Given the description of an element on the screen output the (x, y) to click on. 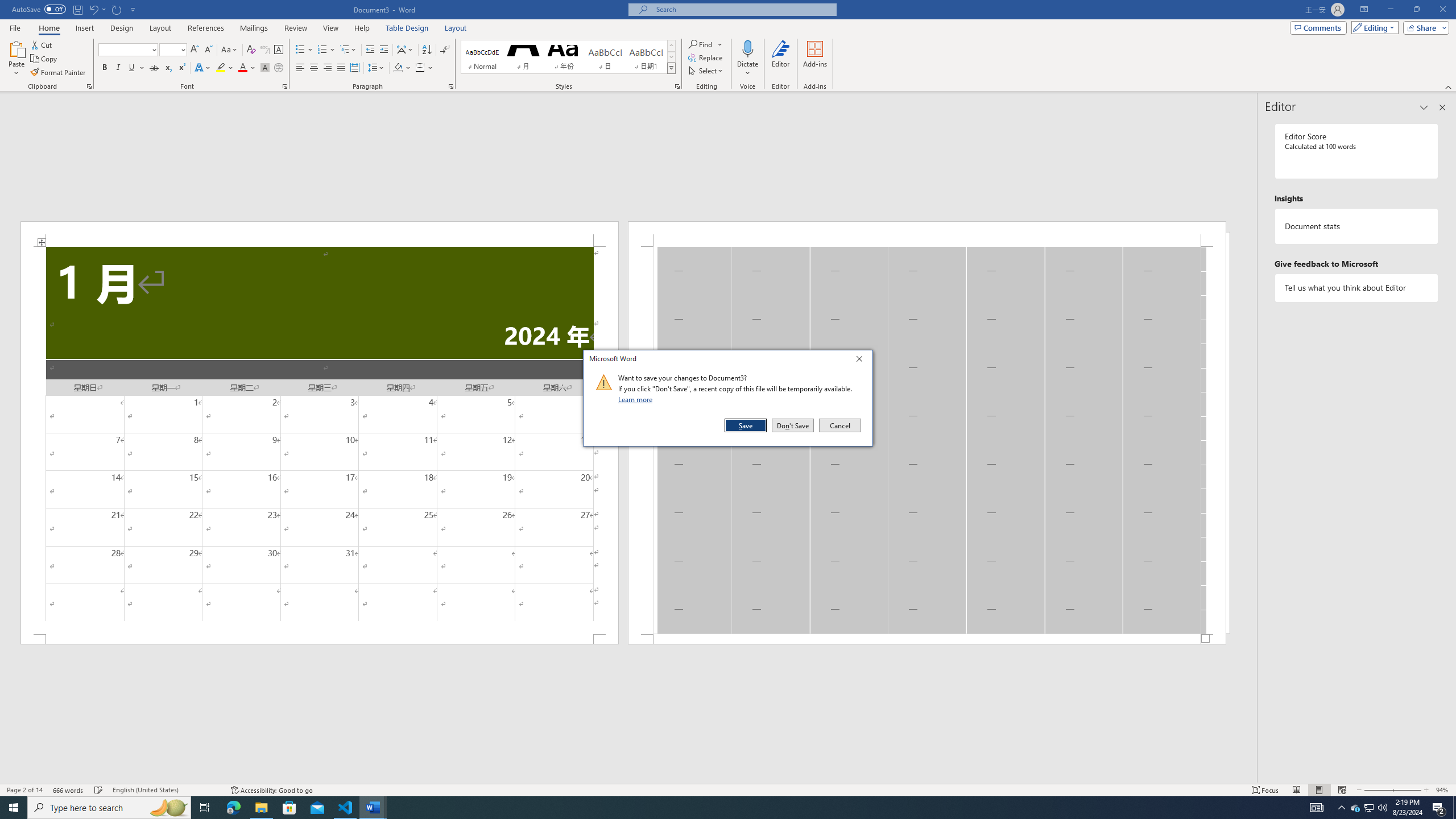
Learn more (636, 399)
Page Number Page 2 of 14 (24, 790)
